Given the description of an element on the screen output the (x, y) to click on. 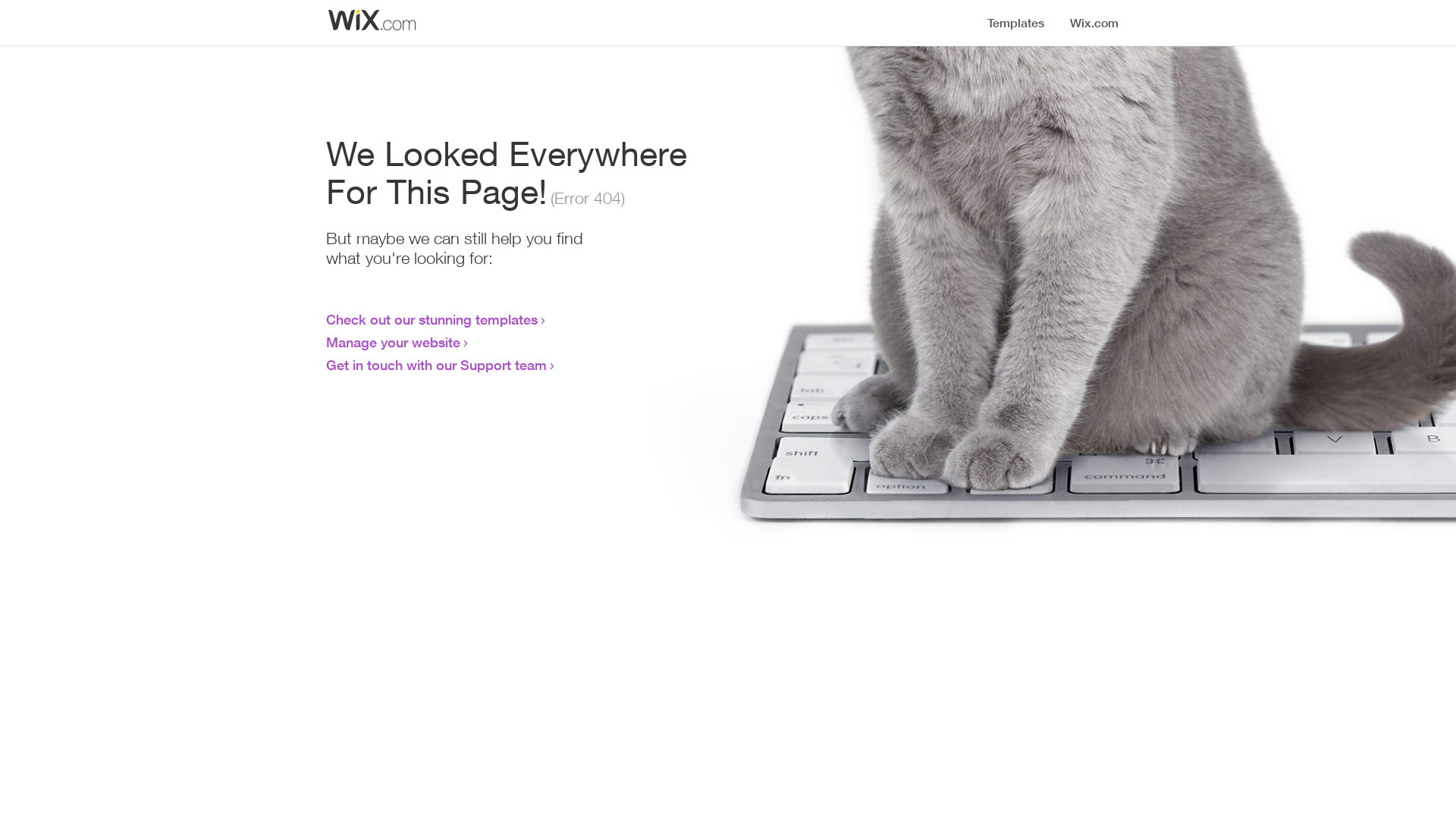
Manage your website Element type: text (393, 341)
Check out our stunning templates Element type: text (431, 318)
Get in touch with our Support team Element type: text (436, 364)
